Given the description of an element on the screen output the (x, y) to click on. 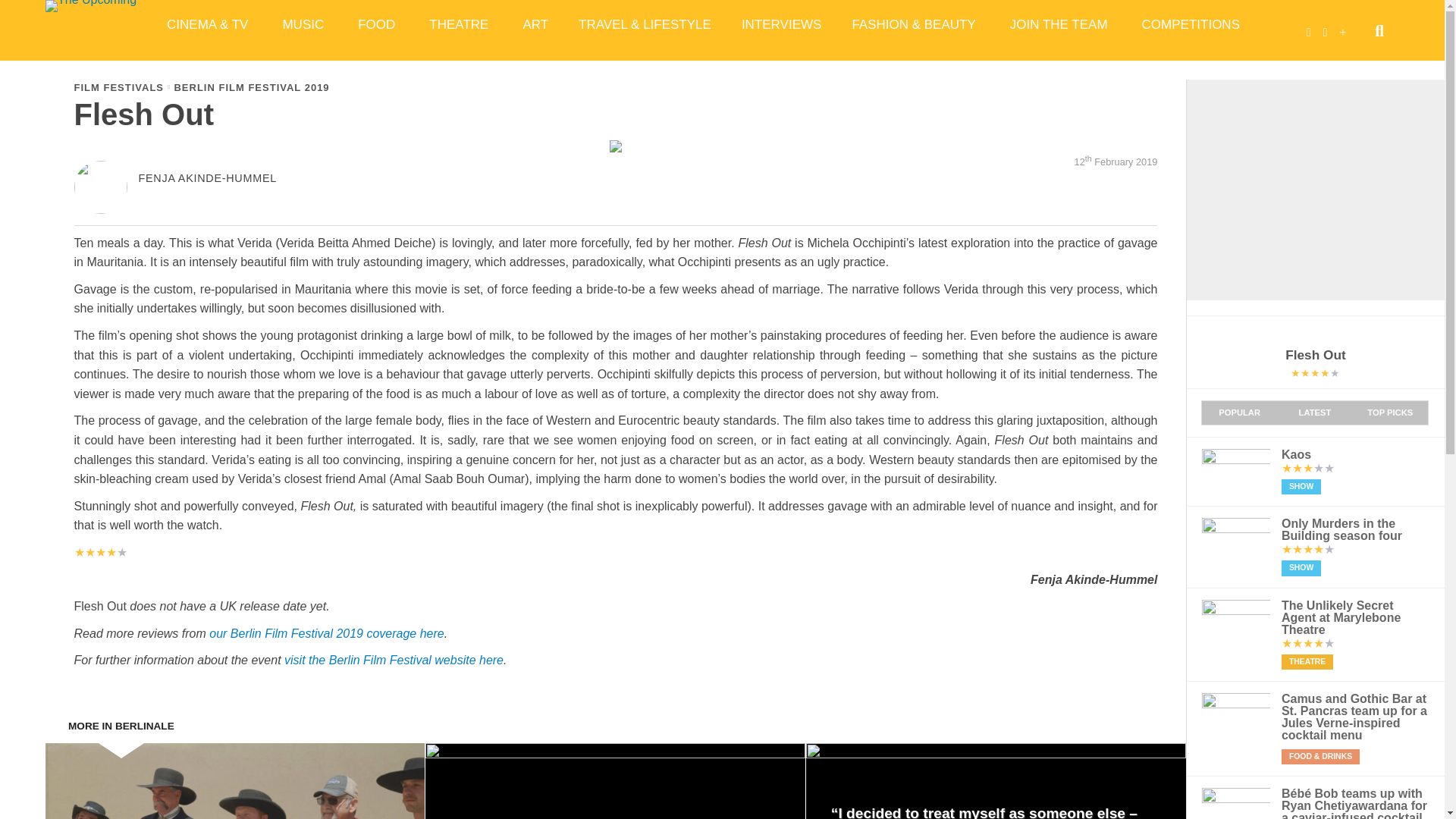
ART (534, 24)
FOOD (377, 24)
4 out of 5 stars (101, 552)
MUSIC (304, 24)
INTERVIEWS (780, 24)
THEATRE (459, 24)
JOIN THE TEAM (1060, 24)
